Given the description of an element on the screen output the (x, y) to click on. 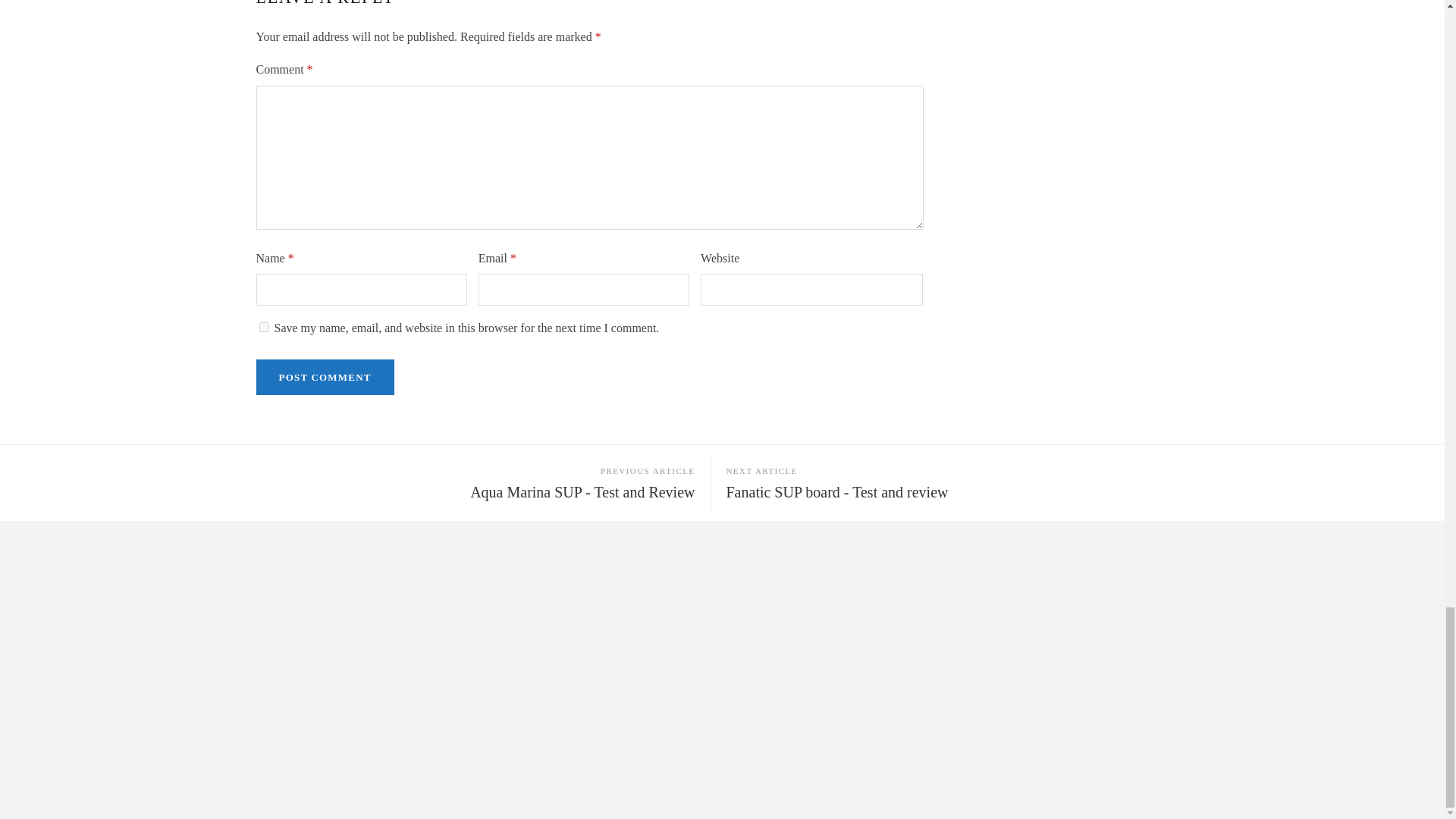
yes (264, 327)
Post Comment (325, 376)
Aqua Marina SUP - Test and Review (582, 492)
Post Comment (325, 376)
Fanatic SUP board - Test and review (837, 492)
